Given the description of an element on the screen output the (x, y) to click on. 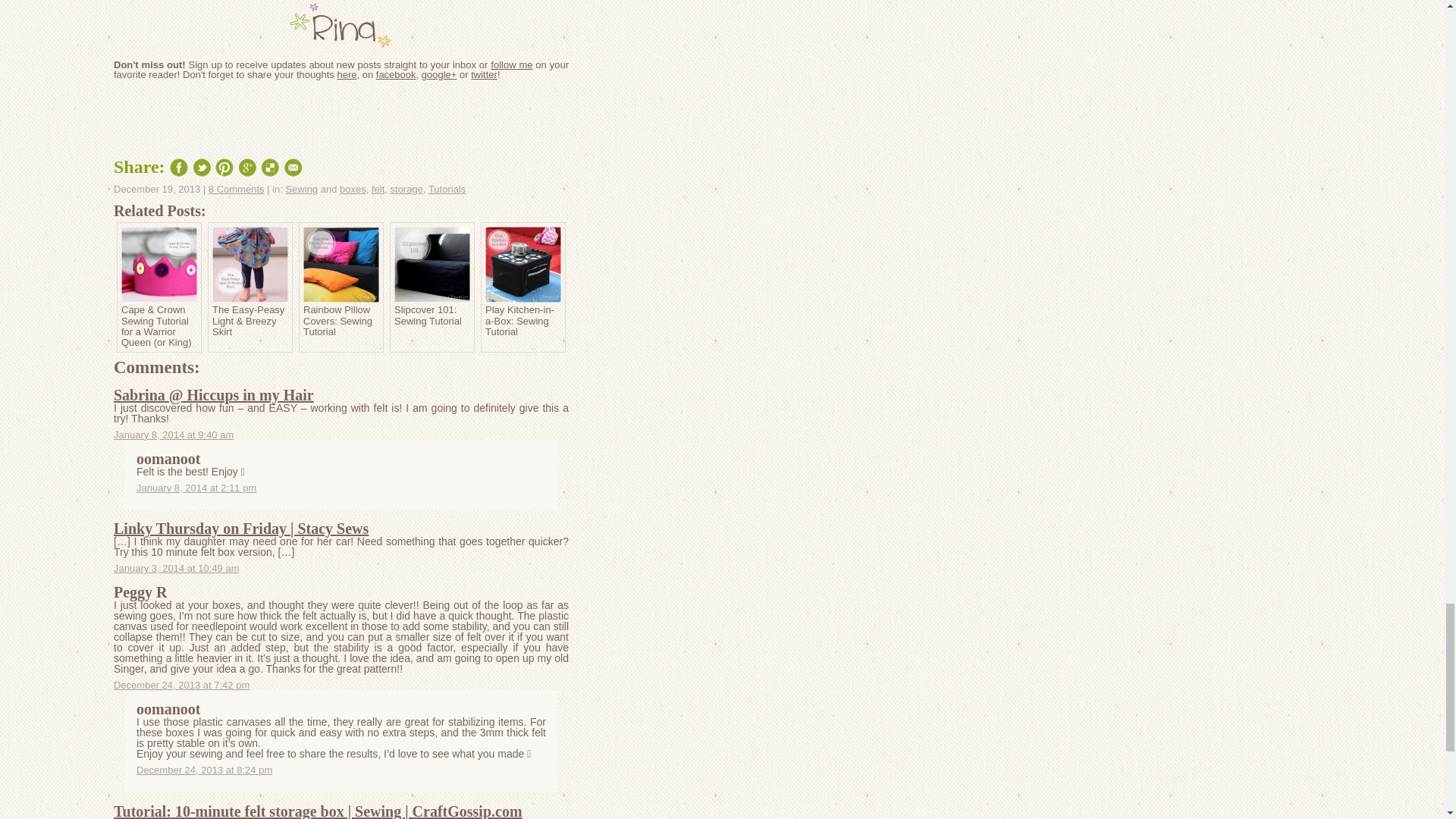
boxes (352, 188)
storage (406, 188)
Sewing (301, 188)
Tweet this (201, 167)
Pin this (223, 167)
Bookmark on Delicious (269, 167)
here (346, 74)
follow me (511, 64)
January 8, 2014 at 9:40 am (172, 434)
Share this (178, 167)
